Given the description of an element on the screen output the (x, y) to click on. 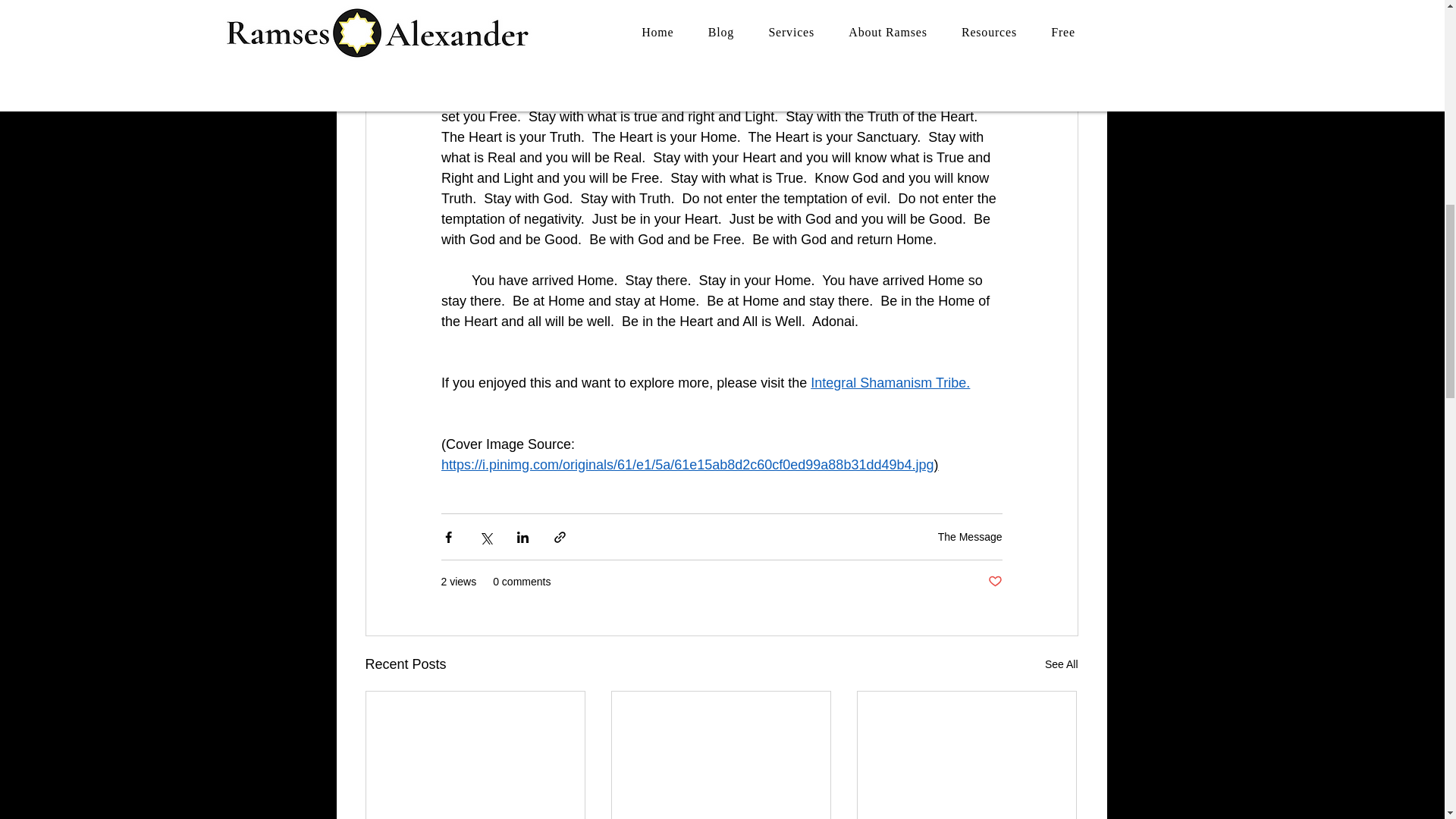
Post not marked as liked (994, 581)
The Message (970, 536)
See All (1061, 664)
Integral Shamanism Tribe. (889, 382)
